Given the description of an element on the screen output the (x, y) to click on. 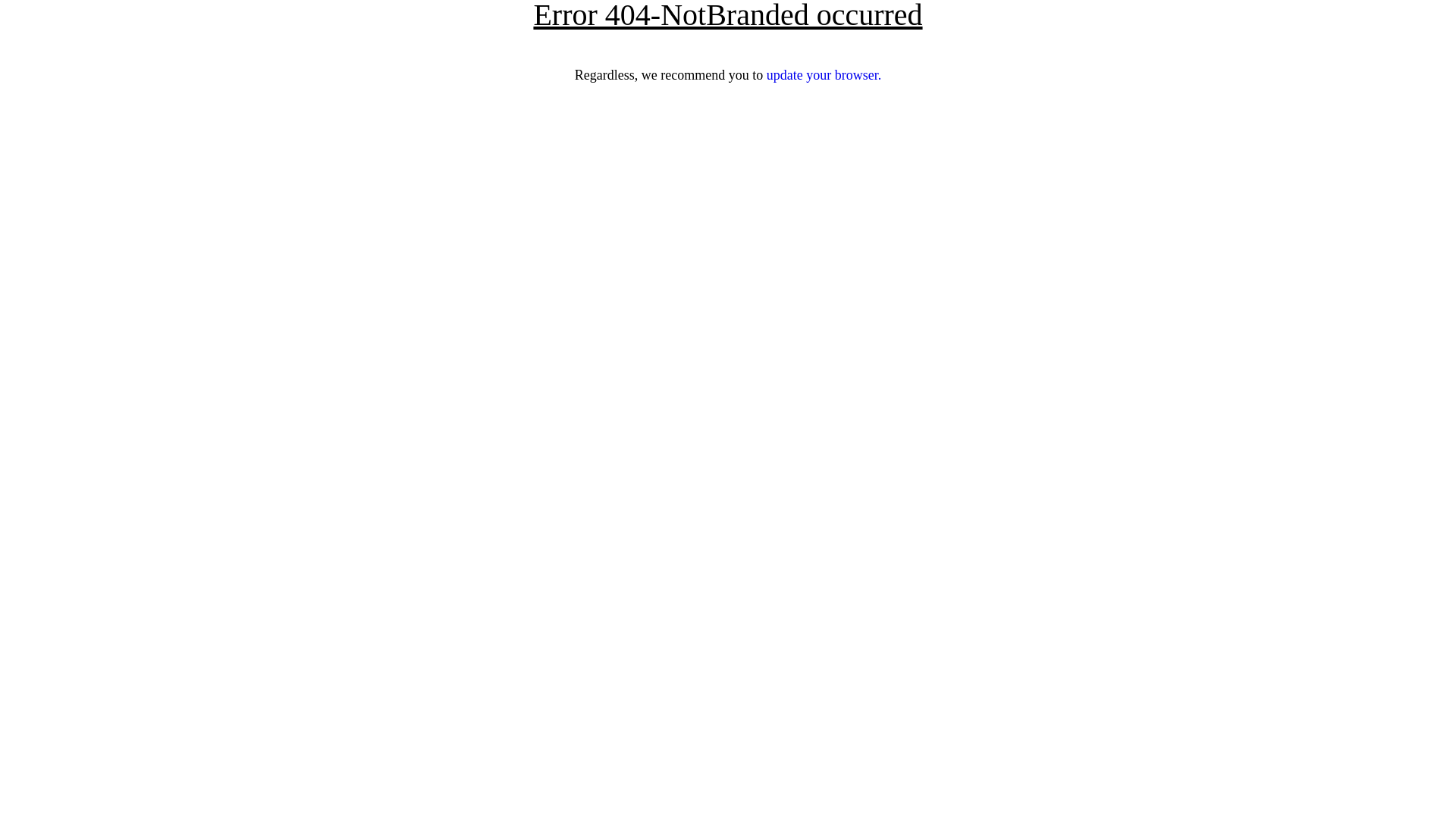
update your browser. Element type: text (823, 74)
